Given the description of an element on the screen output the (x, y) to click on. 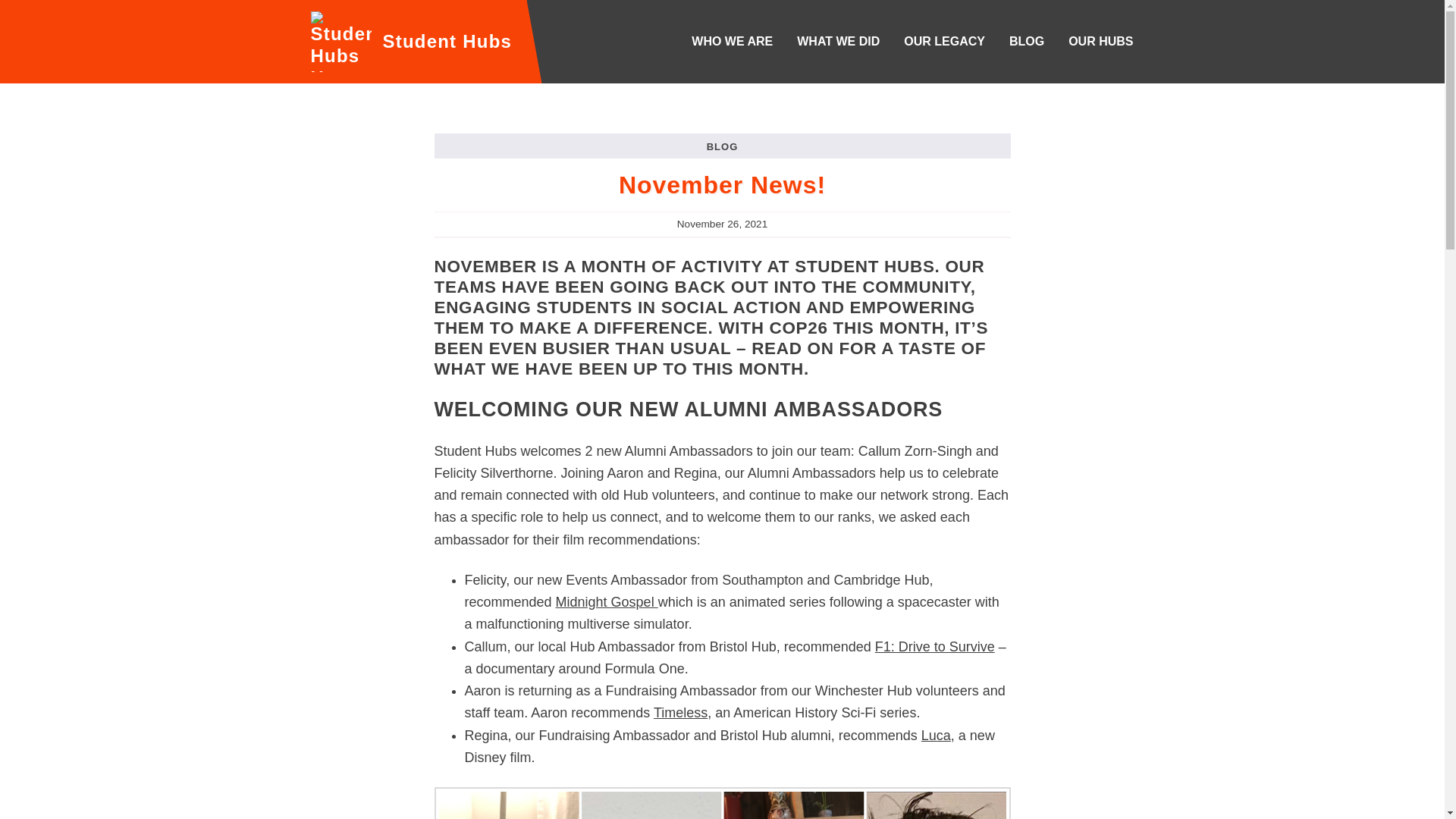
WHAT WE DID (837, 41)
BLOG (1027, 41)
WHO WE ARE (731, 41)
Blog (1027, 41)
F1: Drive to Survive (934, 646)
Luca (935, 735)
Timeless (680, 712)
Student Hubs (410, 41)
OUR HUBS (1100, 41)
